Given the description of an element on the screen output the (x, y) to click on. 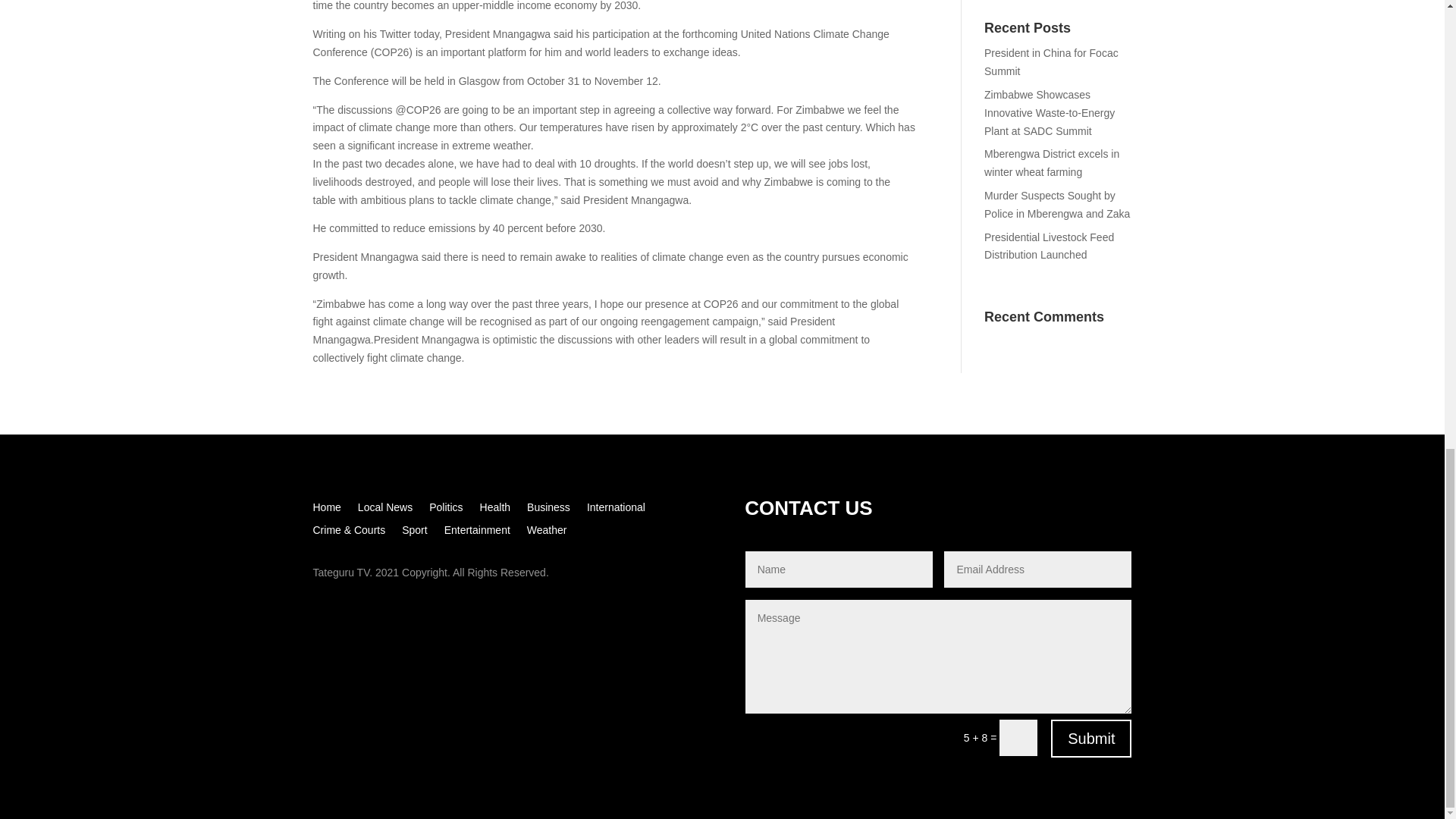
Presidential Livestock Feed Distribution Launched (1048, 245)
Politics (446, 510)
Mberengwa District excels in winter wheat farming (1051, 163)
Murder Suspects Sought by Police in Mberengwa and Zaka (1056, 204)
Home (326, 510)
President in China for Focac Summit (1051, 61)
Local News (385, 510)
